Given the description of an element on the screen output the (x, y) to click on. 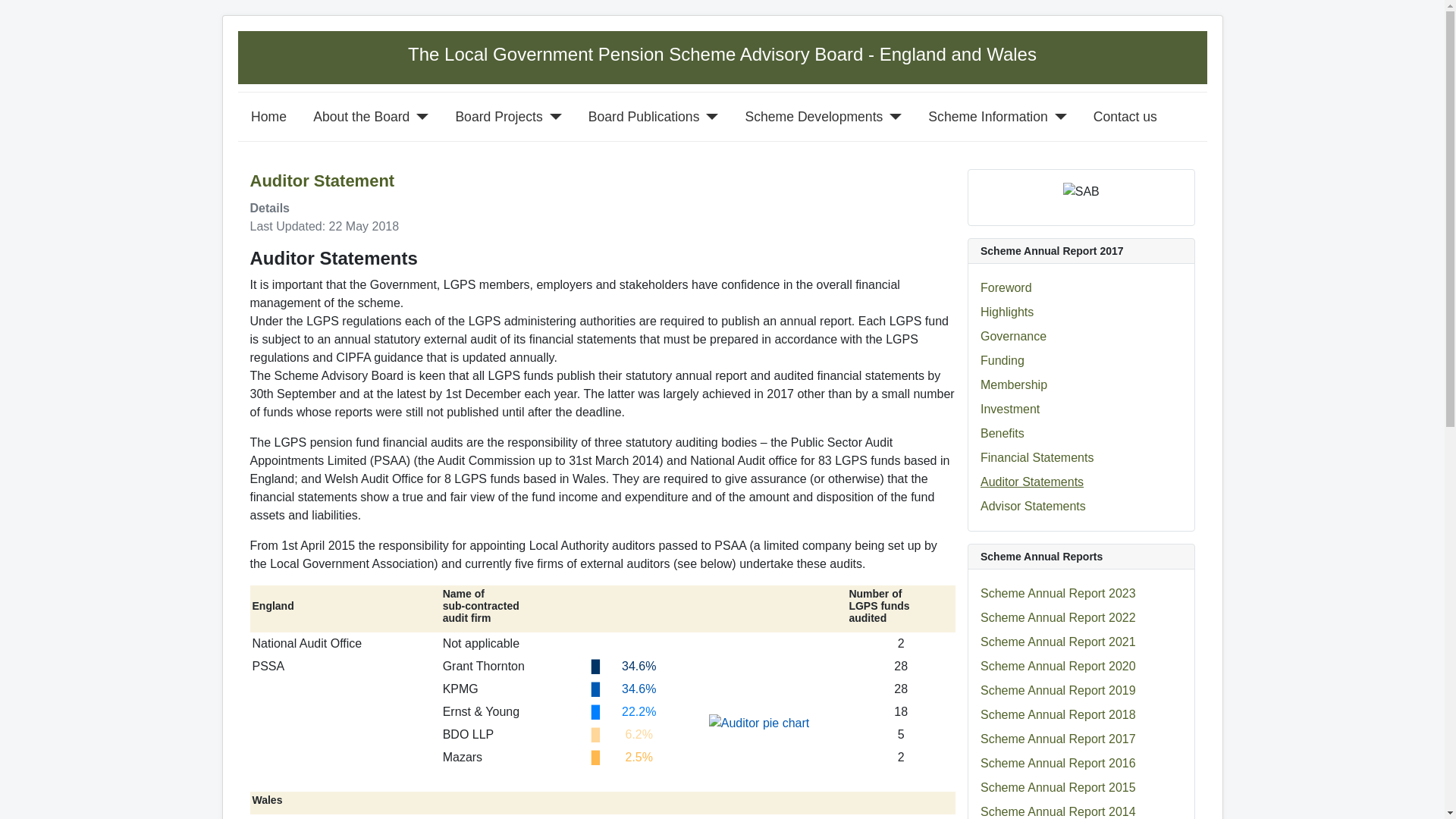
About the Board (361, 116)
Scheme Developments (813, 116)
Board Publications (644, 116)
Home (268, 116)
LGPS Scheme Advisory Board (721, 54)
Board Projects (497, 116)
Scheme Information (987, 116)
